Given the description of an element on the screen output the (x, y) to click on. 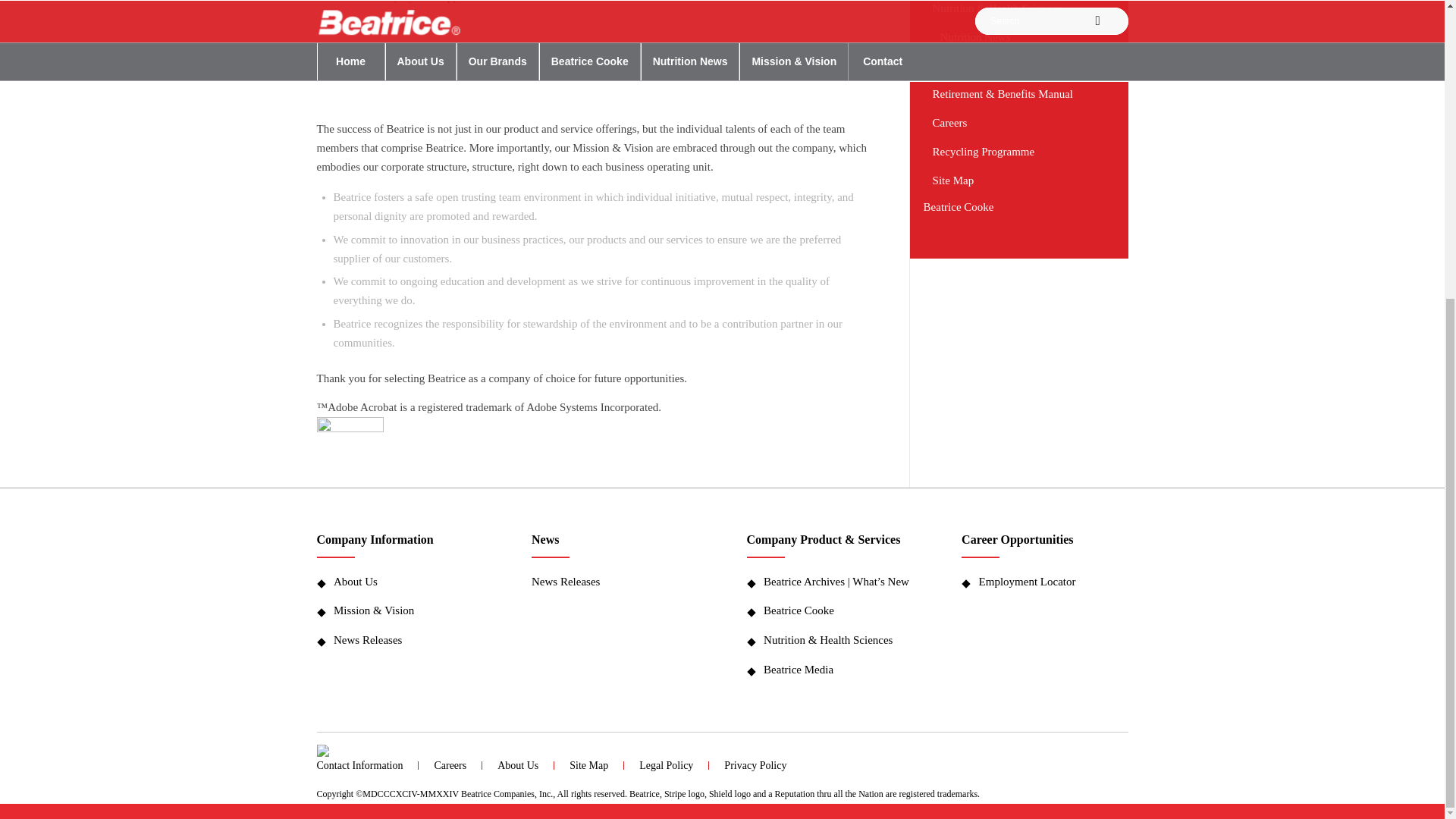
Site Map (1012, 181)
About Us (408, 582)
Recycling Programme (1012, 152)
Careers (1012, 123)
Health Recipes (1016, 65)
BI42004- Employment Application (412, 1)
News Releases (408, 640)
Beatrice Cooke (1012, 207)
News Releases (614, 582)
Nutrition News (1016, 37)
